Given the description of an element on the screen output the (x, y) to click on. 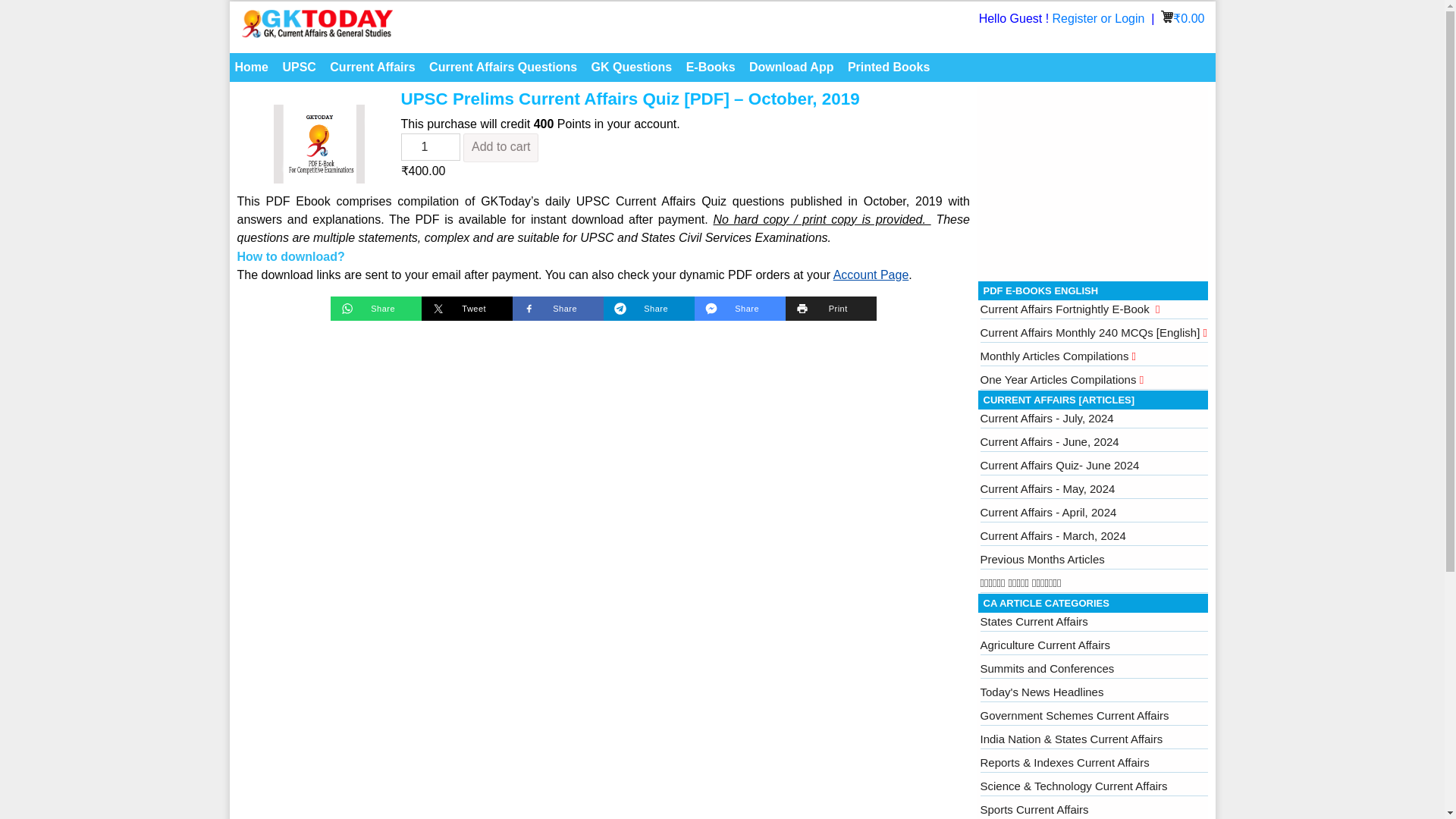
One Year Articles Compilations  (1060, 379)
Home (250, 67)
Agriculture Current Affairs (1044, 644)
Advertisement (1093, 181)
Current Affairs - April, 2024 (1047, 512)
Current Affairs Quiz- June 2024 (1058, 464)
CA ARTICLE CATEGORIES (1044, 603)
1 (430, 146)
GK Questions (632, 67)
Sports Current Affairs (1033, 809)
E-Books (711, 67)
Government Schemes Current Affairs (1074, 715)
Current Affairs - June, 2024 (1048, 440)
Current Affairs - May, 2024 (1047, 488)
Qty (430, 146)
